Given the description of an element on the screen output the (x, y) to click on. 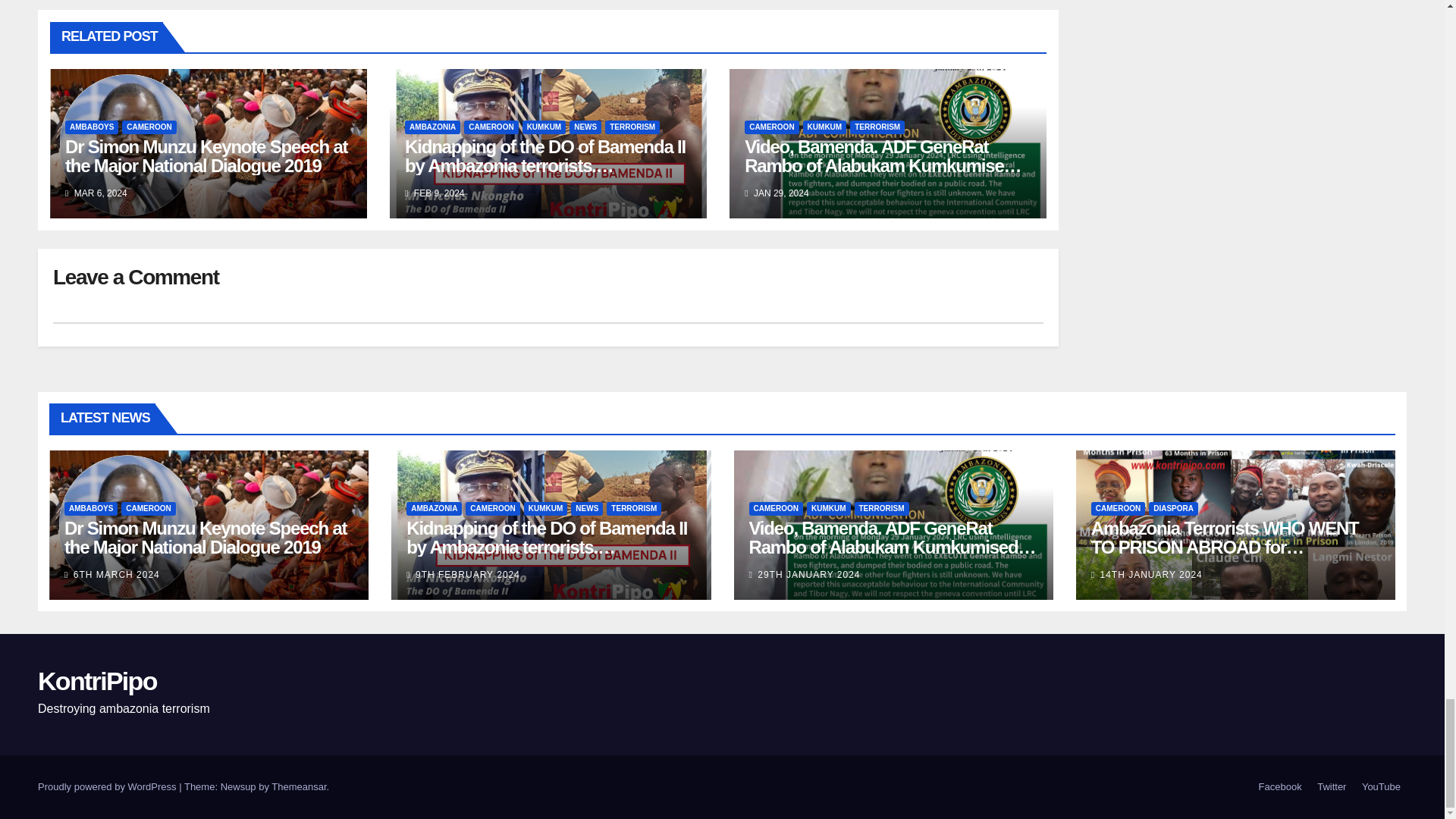
CAMEROON (491, 127)
AMBAZONIA (432, 127)
NEWS (585, 127)
CAMEROON (149, 127)
AMBABOYS (91, 127)
KUMKUM (544, 127)
